Given the description of an element on the screen output the (x, y) to click on. 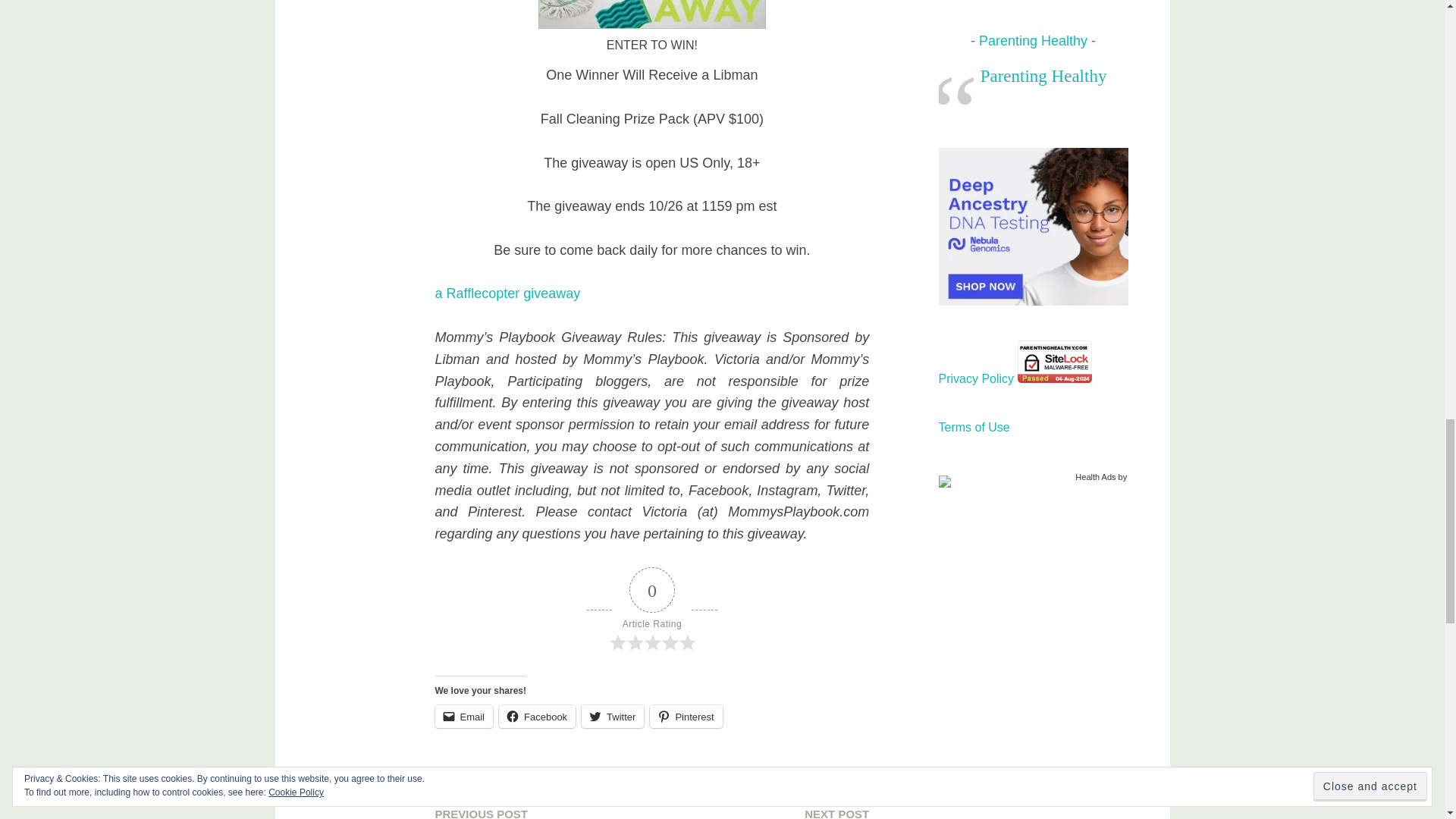
Click to share on Twitter (611, 716)
Click to share on Pinterest (685, 716)
Click to email a link to a friend (464, 716)
Click to share on Facebook (537, 716)
